Given the description of an element on the screen output the (x, y) to click on. 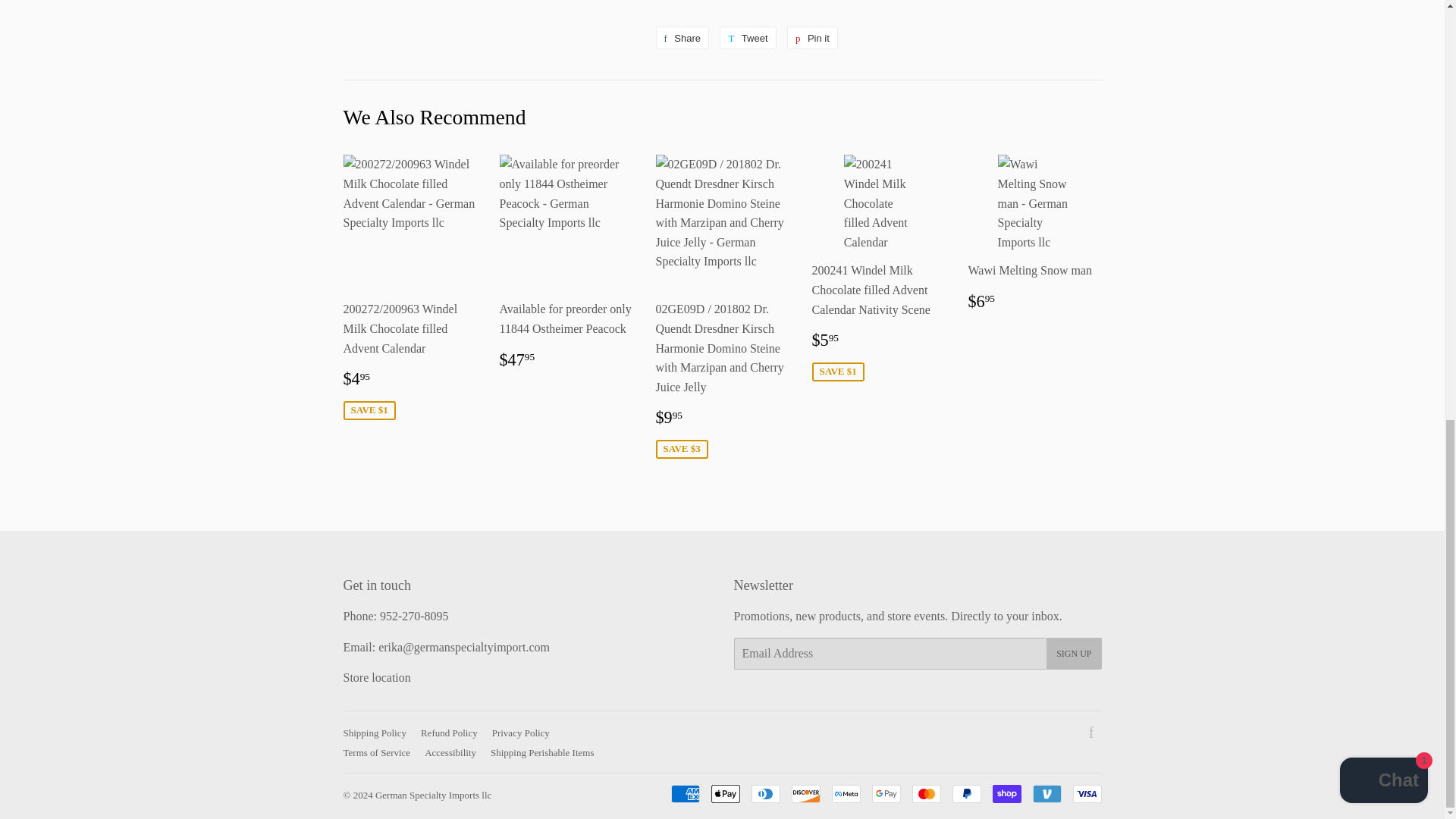
Visa (1085, 793)
Tweet on Twitter (747, 37)
Diners Club (764, 793)
Venmo (1046, 793)
Visit the Store (376, 676)
PayPal (966, 793)
Mastercard (925, 793)
Discover (806, 793)
Meta Pay (845, 793)
German Specialty Imports llc on Facebook (1091, 733)
American Express (683, 793)
Apple Pay (725, 793)
Google Pay (886, 793)
Shop Pay (1005, 793)
Pin on Pinterest (812, 37)
